Given the description of an element on the screen output the (x, y) to click on. 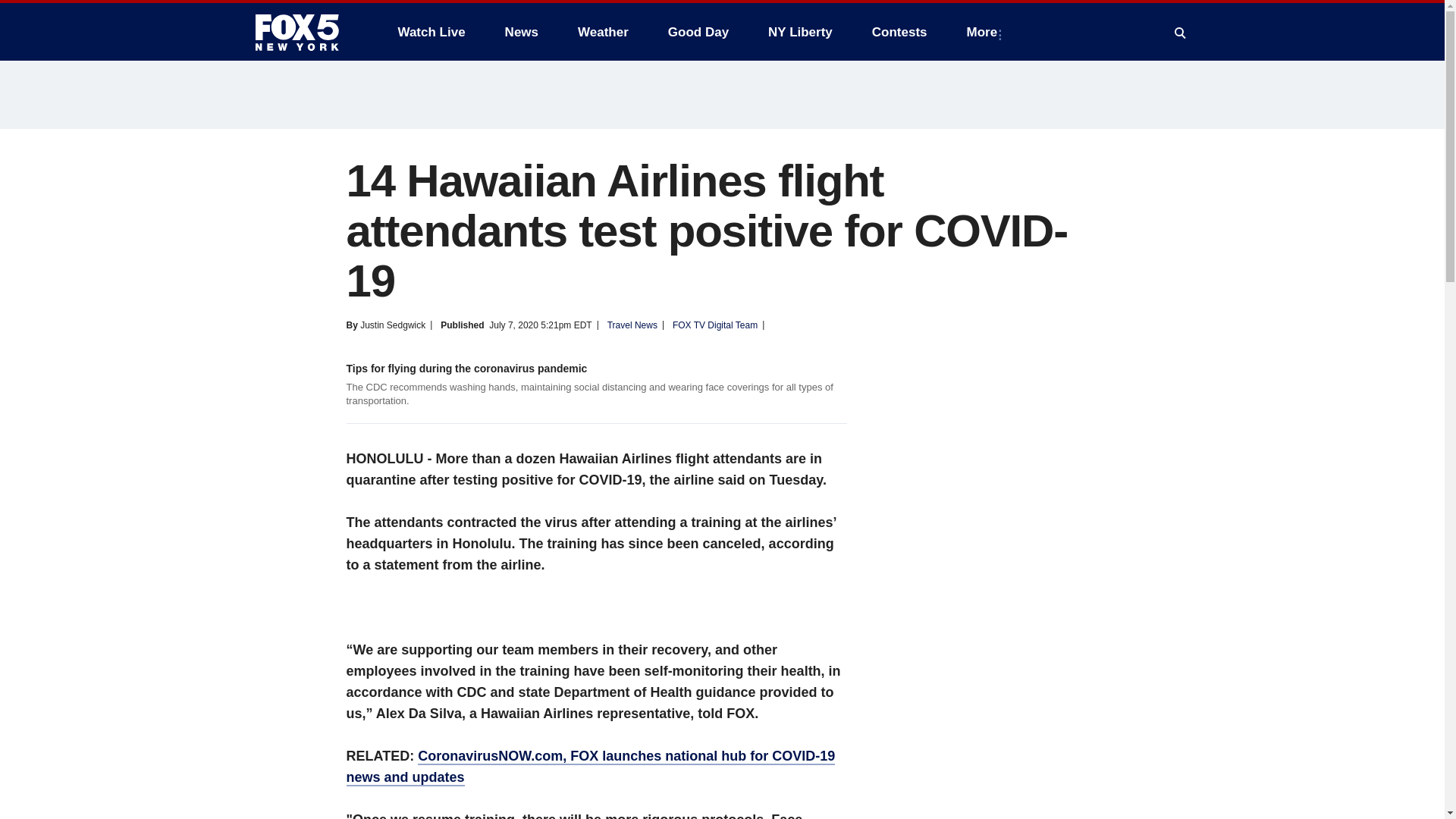
Contests (899, 32)
NY Liberty (799, 32)
News (521, 32)
Weather (603, 32)
More (985, 32)
Good Day (698, 32)
Watch Live (431, 32)
